Given the description of an element on the screen output the (x, y) to click on. 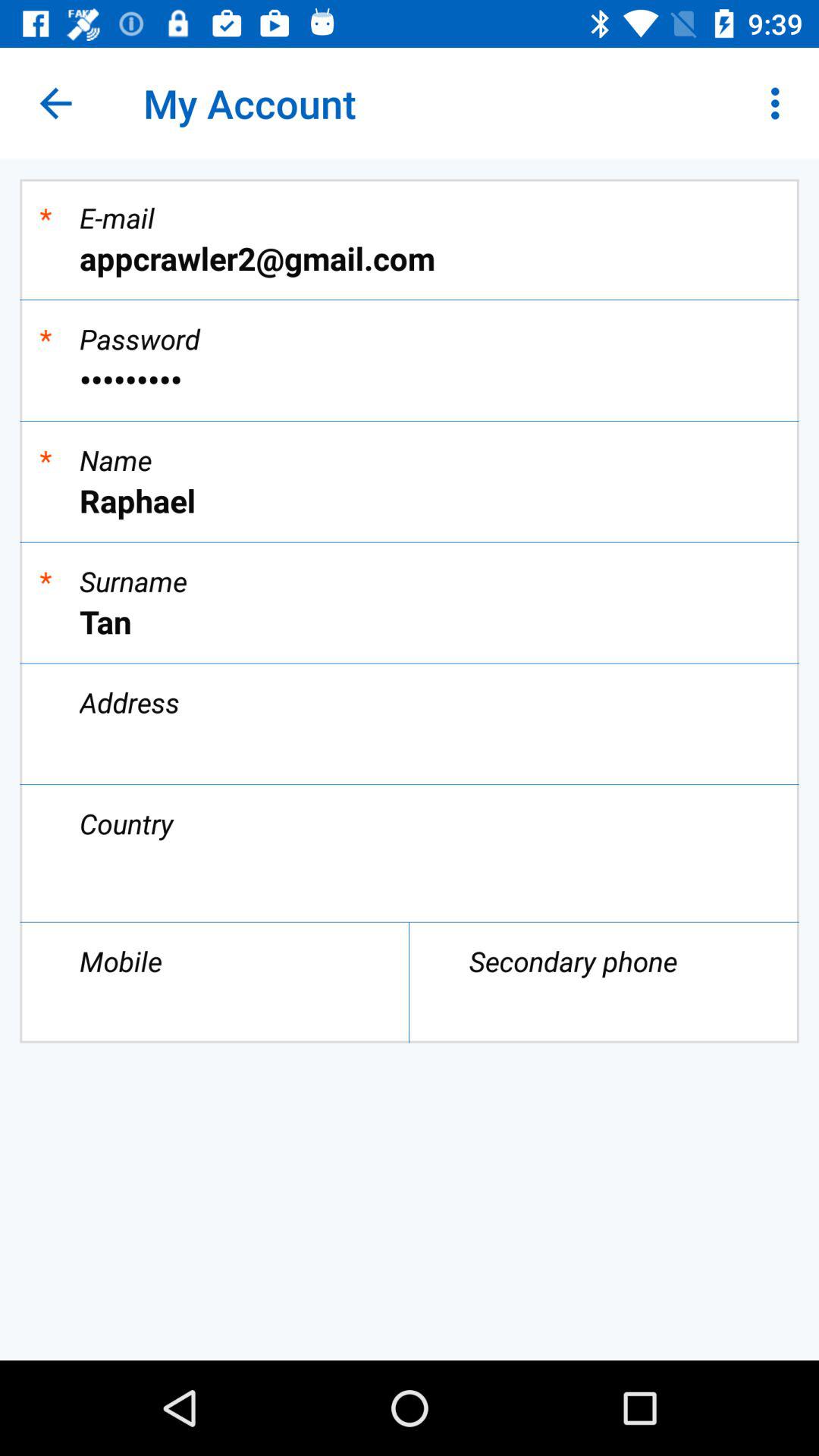
turn off icon above * (55, 103)
